Given the description of an element on the screen output the (x, y) to click on. 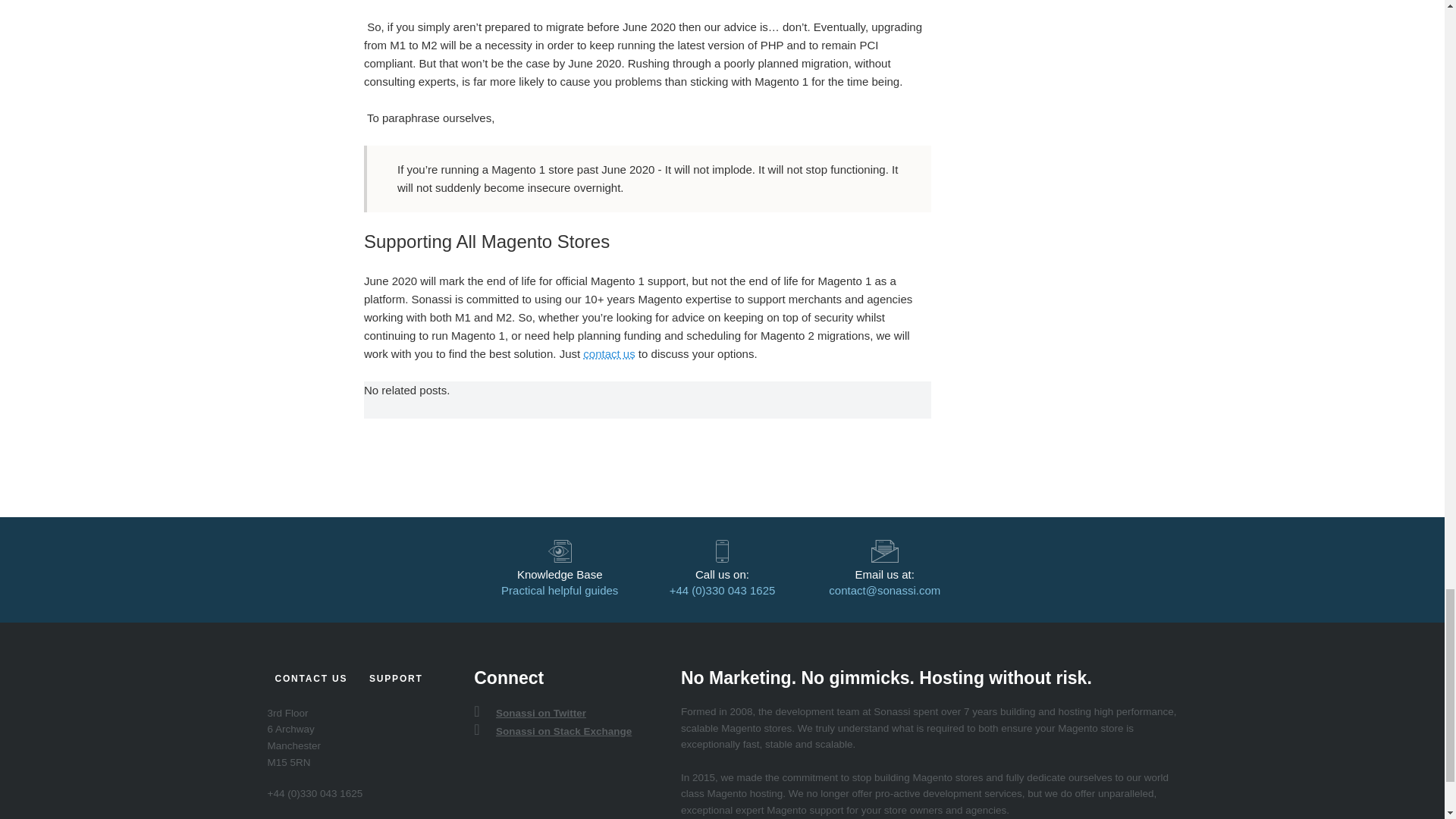
Sonassi on Twitter (539, 713)
CONTACT US (310, 679)
Sonassi on Stack Exchange (561, 731)
Practical helpful guides (558, 590)
contact us (608, 353)
SUPPORT (395, 679)
